Given the description of an element on the screen output the (x, y) to click on. 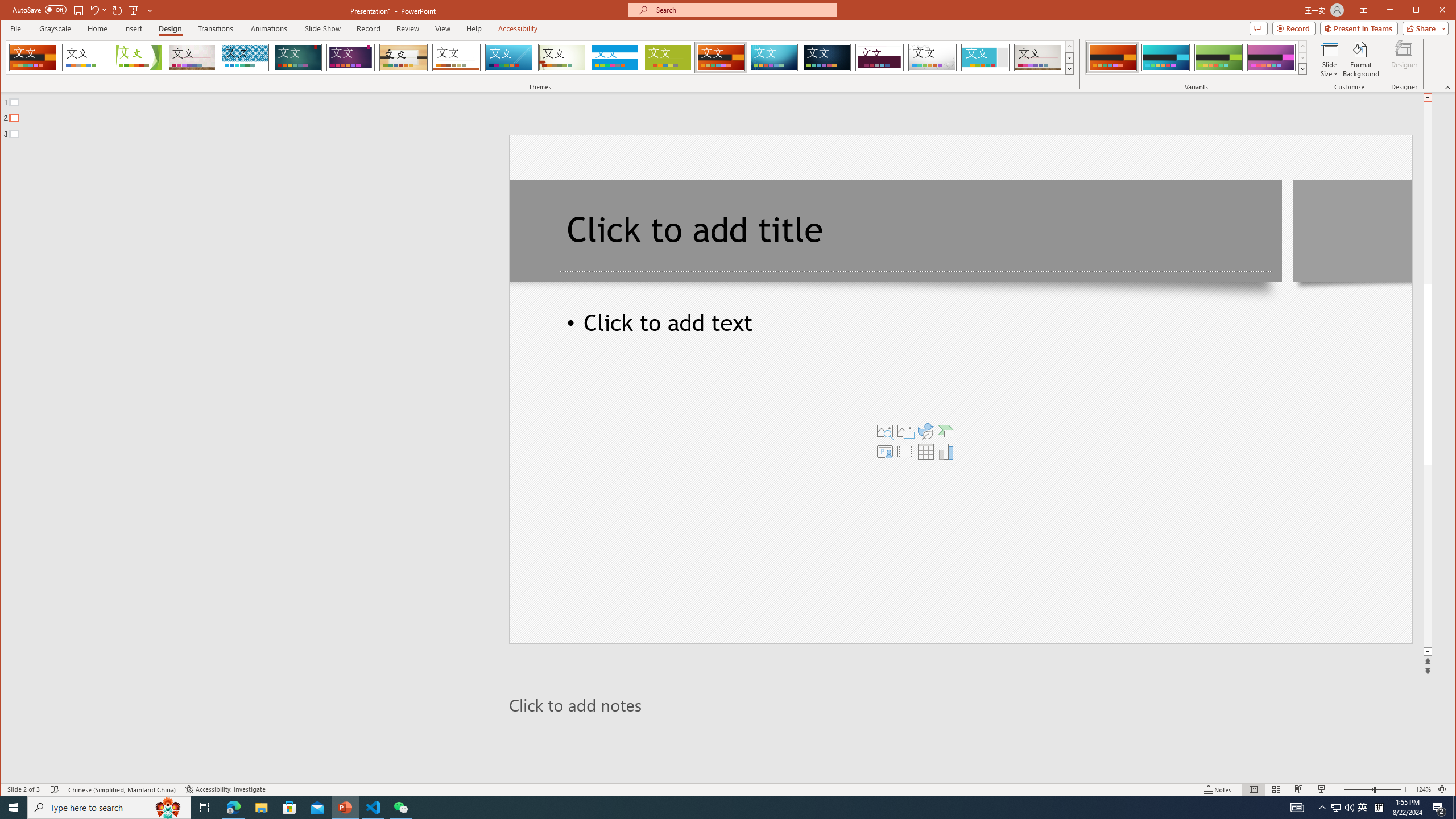
AutomationID: SlideThemesGallery (540, 57)
Zoom 124% (1422, 789)
